Given the description of an element on the screen output the (x, y) to click on. 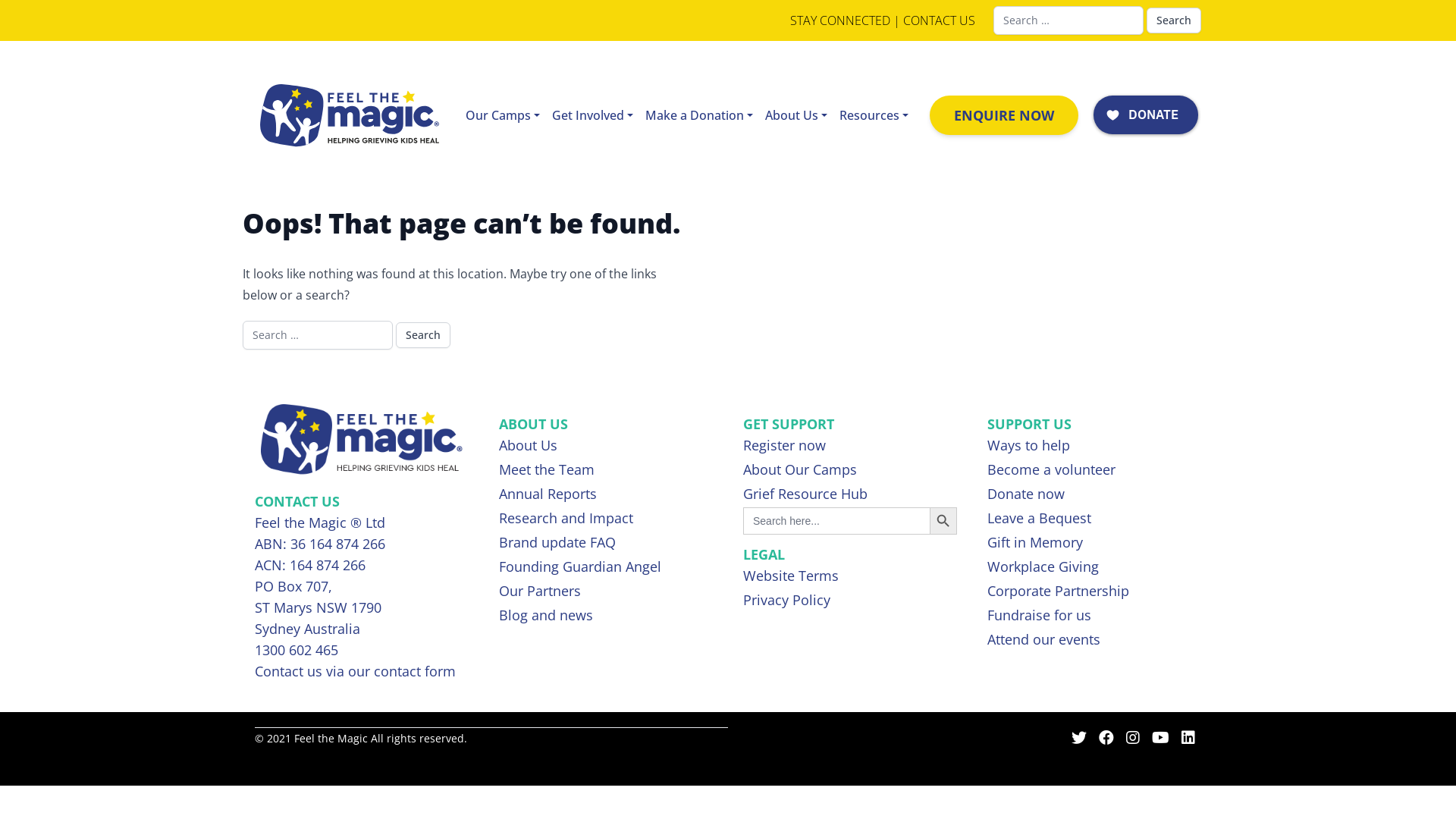
Donate now Element type: text (1094, 495)
Get Involved Element type: text (592, 115)
Make a Donation Element type: text (699, 115)
About Us Element type: text (605, 446)
Search Element type: text (1173, 20)
Blog and news Element type: text (605, 616)
Brand update FAQ Element type: text (605, 543)
Search for: Element type: hover (1068, 20)
Contact us via our contact form Element type: text (354, 671)
Register now Element type: text (850, 446)
Fundraise for us Element type: text (1094, 616)
Gift in Memory Element type: text (1094, 543)
Our Camps Element type: text (502, 115)
Corporate Partnership Element type: text (1094, 592)
ENQUIRE NOW Element type: text (1003, 114)
CONTACT US Element type: text (939, 20)
Privacy Policy Element type: text (850, 601)
Our Partners Element type: text (605, 592)
Grief Resource Hub Element type: text (850, 495)
Search for: Element type: hover (317, 334)
STAY CONNECTED Element type: text (840, 20)
Founding Guardian Angel Element type: text (605, 567)
Donate Button Element type: hover (1145, 115)
About Us Element type: text (796, 115)
Attend our events Element type: text (1094, 640)
About Our Camps Element type: text (850, 470)
Workplace Giving Element type: text (1094, 567)
Meet the Team Element type: text (605, 470)
Ways to help Element type: text (1094, 446)
Search Element type: text (422, 335)
Search Button Element type: text (943, 520)
Website Terms Element type: text (850, 576)
Leave a Bequest Element type: text (1094, 519)
Become a volunteer Element type: text (1094, 470)
Research and Impact Element type: text (605, 519)
Annual Reports Element type: text (605, 495)
Resources Element type: text (873, 115)
